Given the description of an element on the screen output the (x, y) to click on. 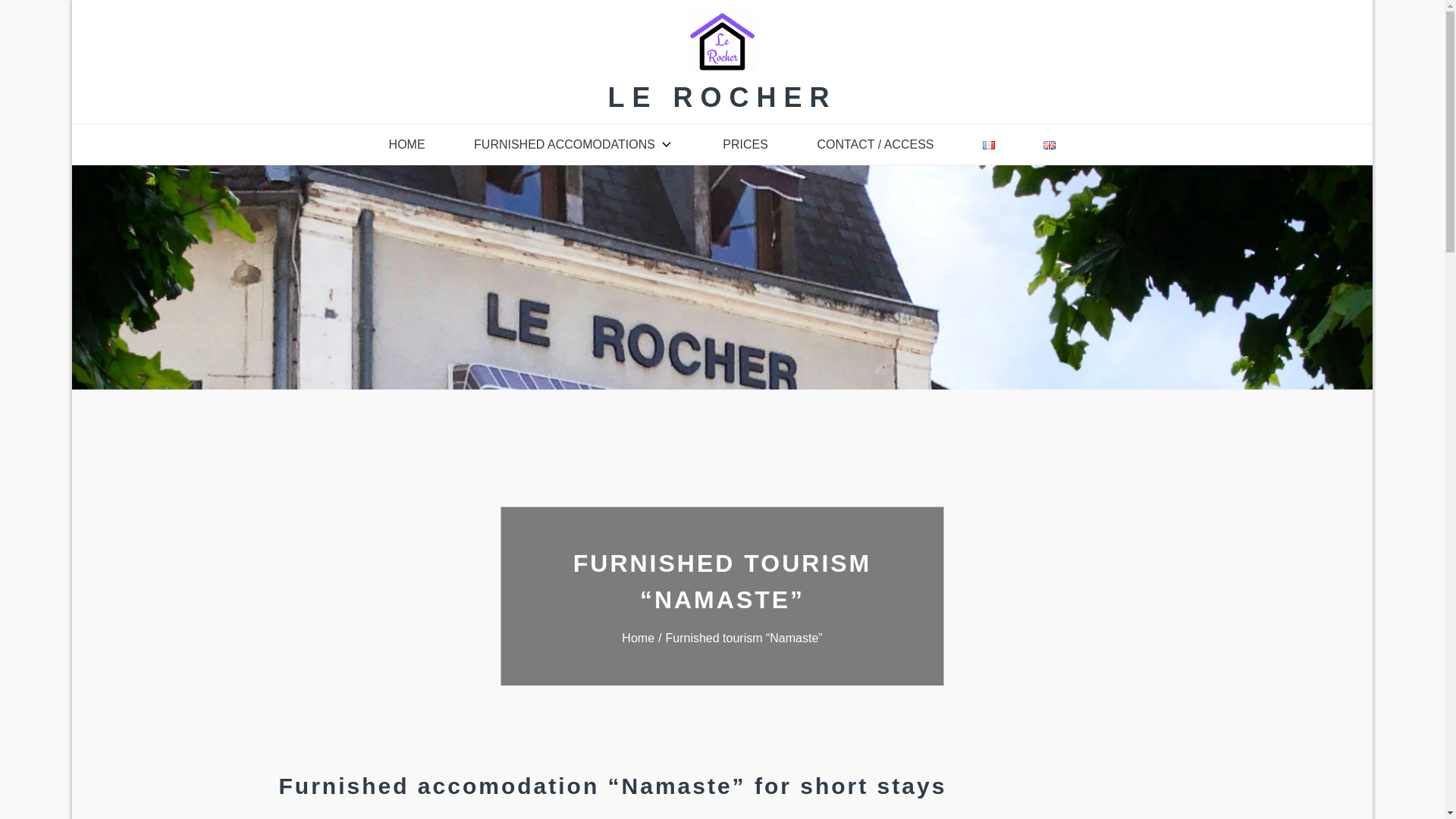
LE ROCHER (721, 97)
Home (643, 637)
HOME (407, 144)
FURNISHED ACCOMODATIONS (574, 144)
PRICES (745, 144)
